Given the description of an element on the screen output the (x, y) to click on. 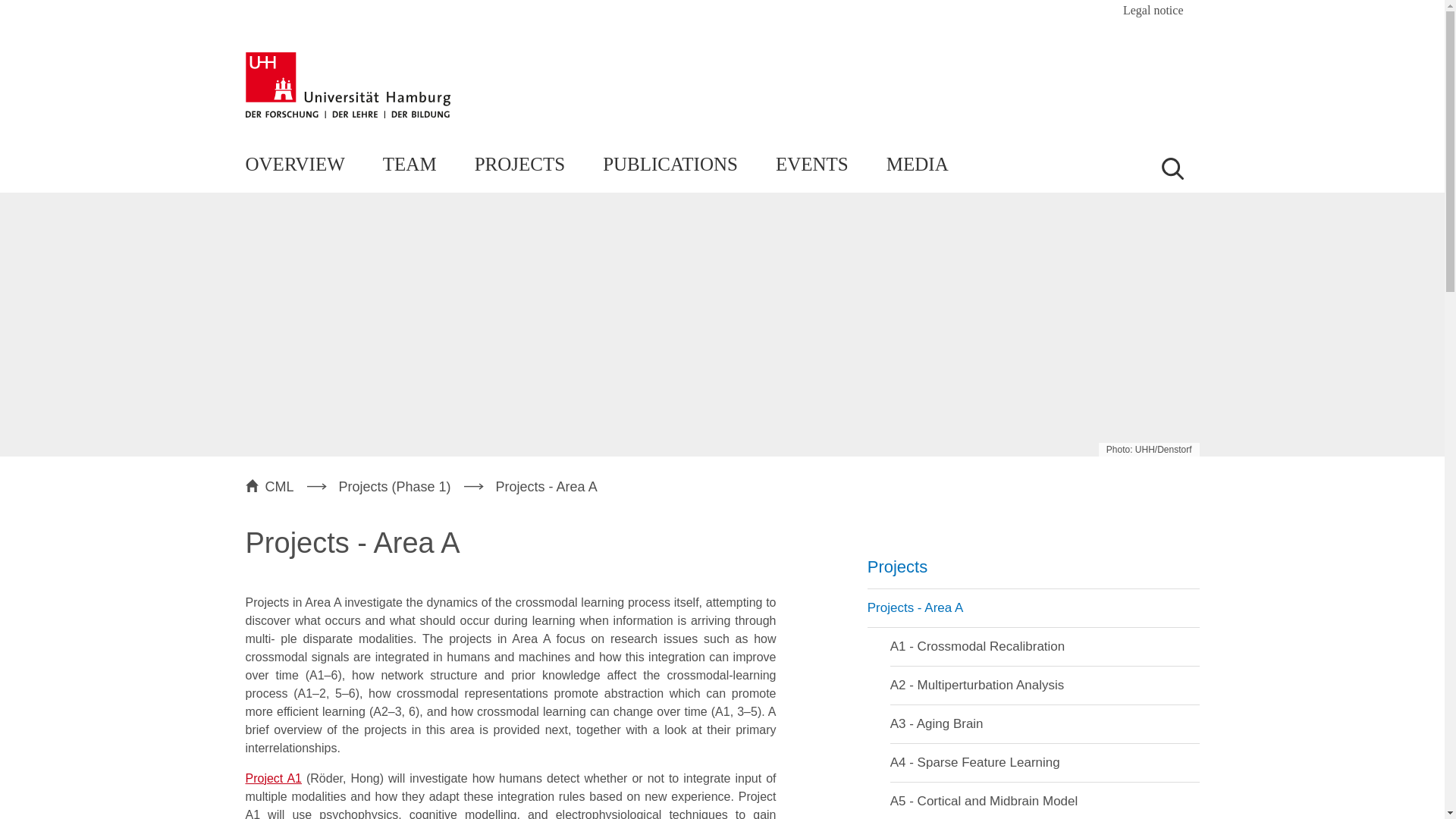
Legal notice (1152, 11)
PROJECTS (519, 164)
PUBLICATIONS (670, 164)
Page logo: Home (1117, 94)
Home (347, 84)
TEAM (409, 164)
OVERVIEW (295, 164)
Project A1 (273, 778)
